Given the description of an element on the screen output the (x, y) to click on. 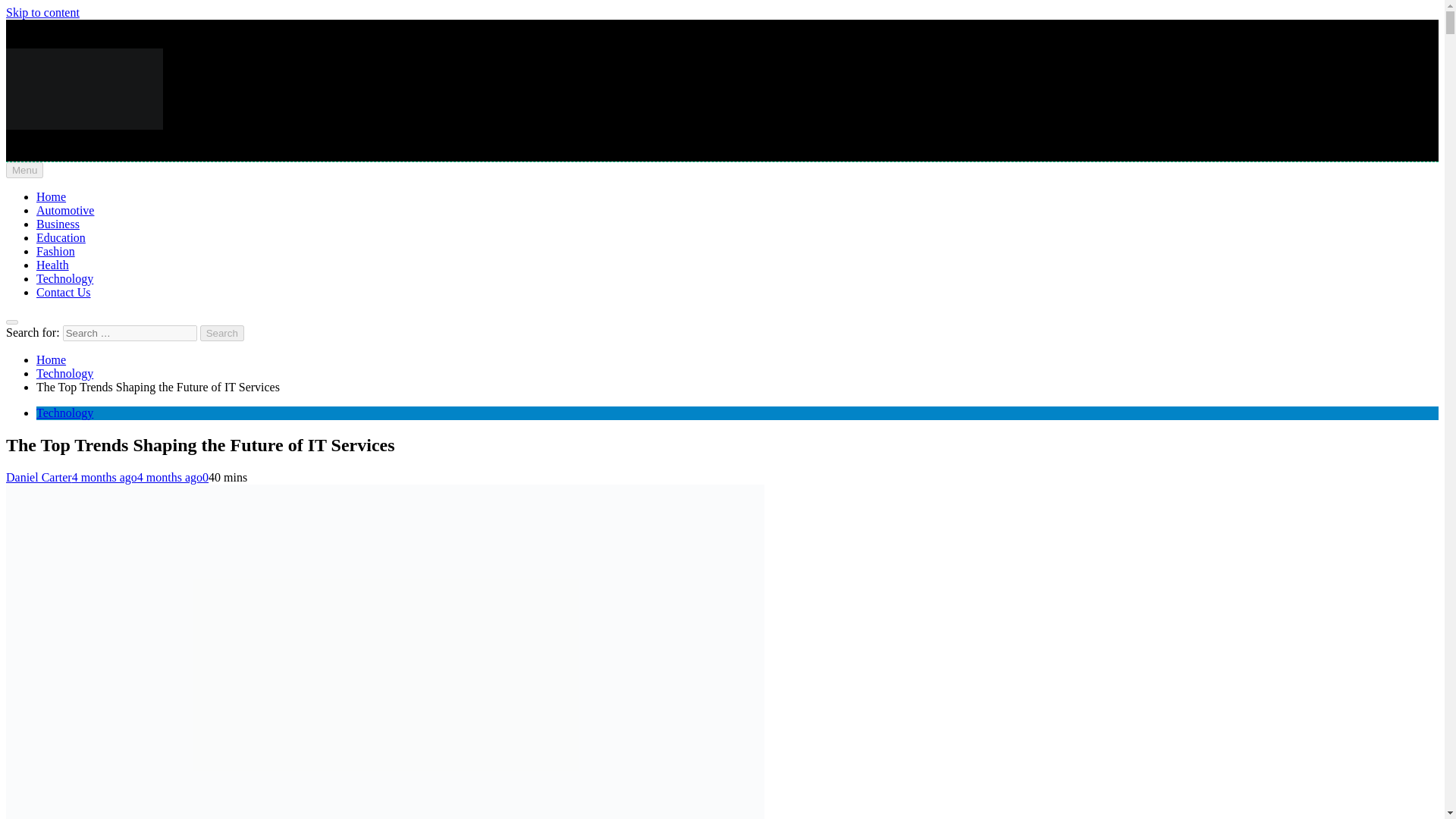
Education (60, 237)
Skip to content (42, 11)
Technology (64, 412)
Business (58, 223)
0 (205, 477)
Daniel Carter (38, 477)
Home (50, 359)
Health (52, 264)
Automotive (65, 210)
Menu (24, 170)
Fashion (55, 250)
Technology (64, 278)
Search (222, 333)
Home (50, 196)
4 months ago4 months ago (136, 477)
